Given the description of an element on the screen output the (x, y) to click on. 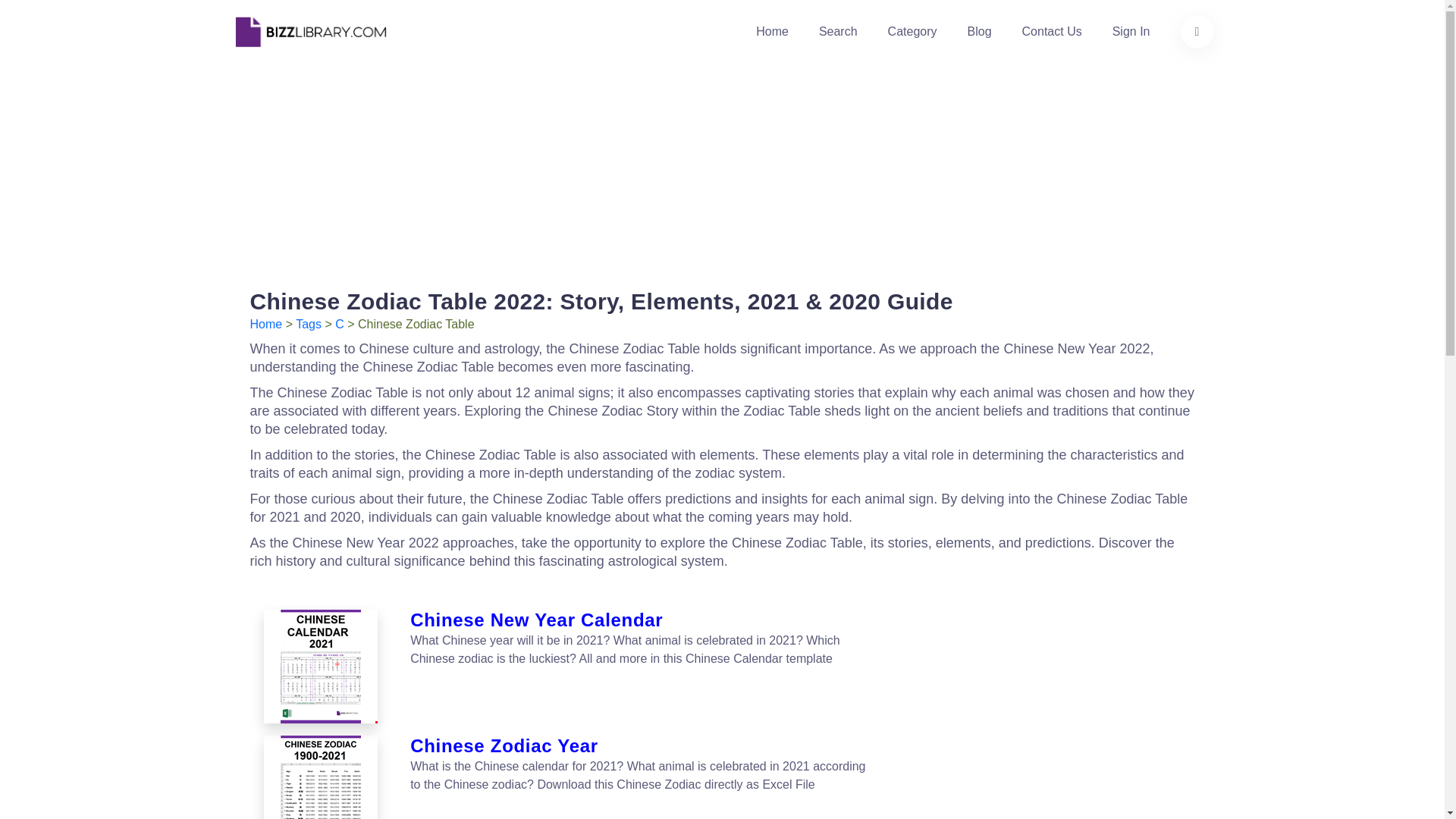
Find the template you need (1195, 31)
Contact Us (1051, 31)
Category (912, 31)
Chinese New Year Calendar (641, 620)
Home (266, 323)
Sign In (1131, 31)
Chinese Zodiac Year (641, 746)
Homepage (266, 323)
Homepage (772, 31)
Chinese Zodiac Year (320, 777)
Bizzlibrary - Business Documents, Templates, and Examples (310, 30)
Template tags (308, 323)
Find your Template (837, 31)
Tags (308, 323)
Sign in to your account (1131, 31)
